Given the description of an element on the screen output the (x, y) to click on. 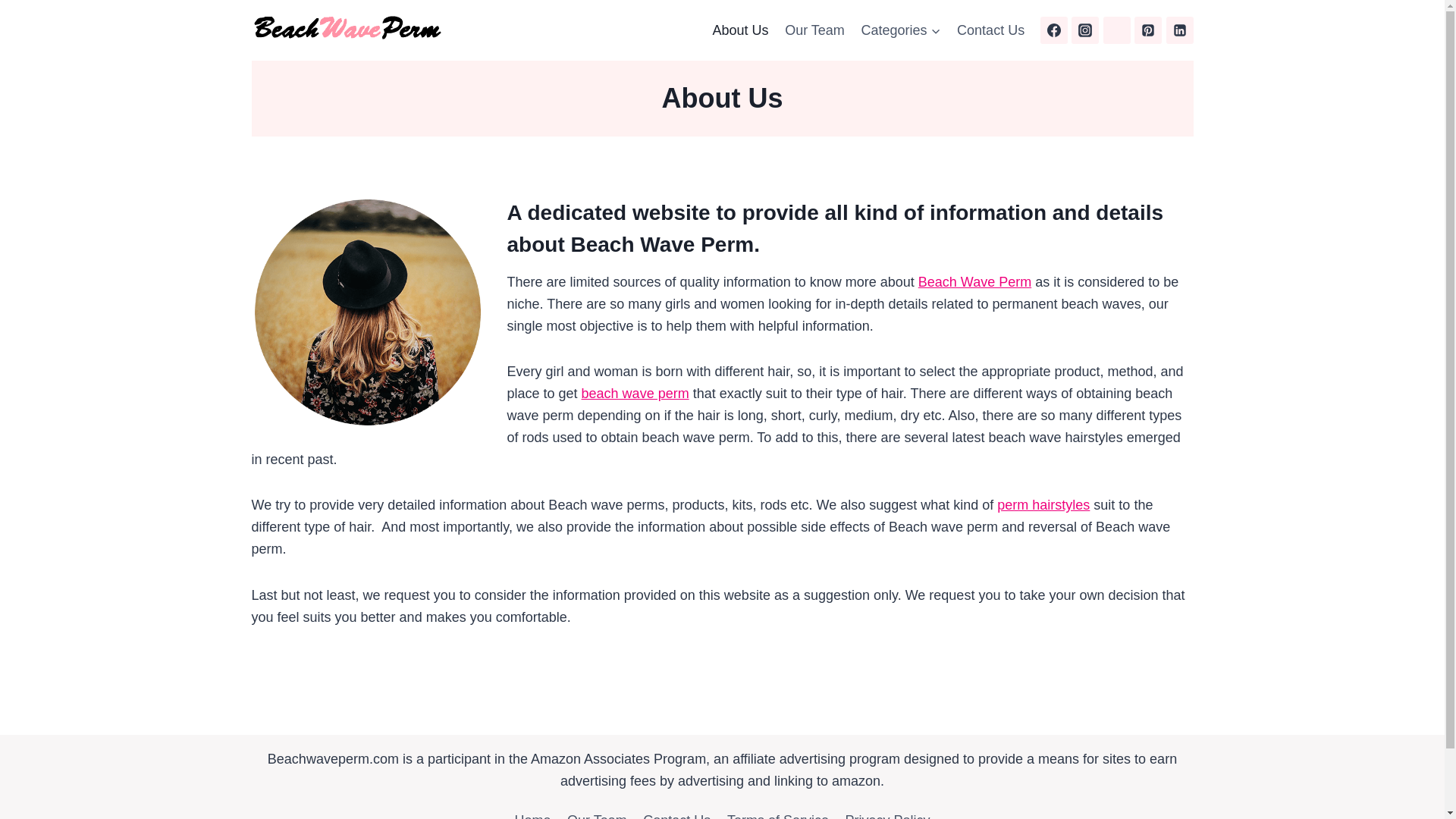
Terms of Service (778, 812)
Privacy Policy (888, 812)
Contact Us (990, 30)
Home (532, 812)
Categories (901, 30)
perm rod hair styles (1043, 504)
Beach Wave Perm (974, 281)
beach wave perm (634, 393)
About Us (740, 30)
Contact Us (676, 812)
Beach Wave Perms - A Complete Guide (634, 393)
Our Team (596, 812)
perm hairstyles (1043, 504)
Our Team (813, 30)
